Given the description of an element on the screen output the (x, y) to click on. 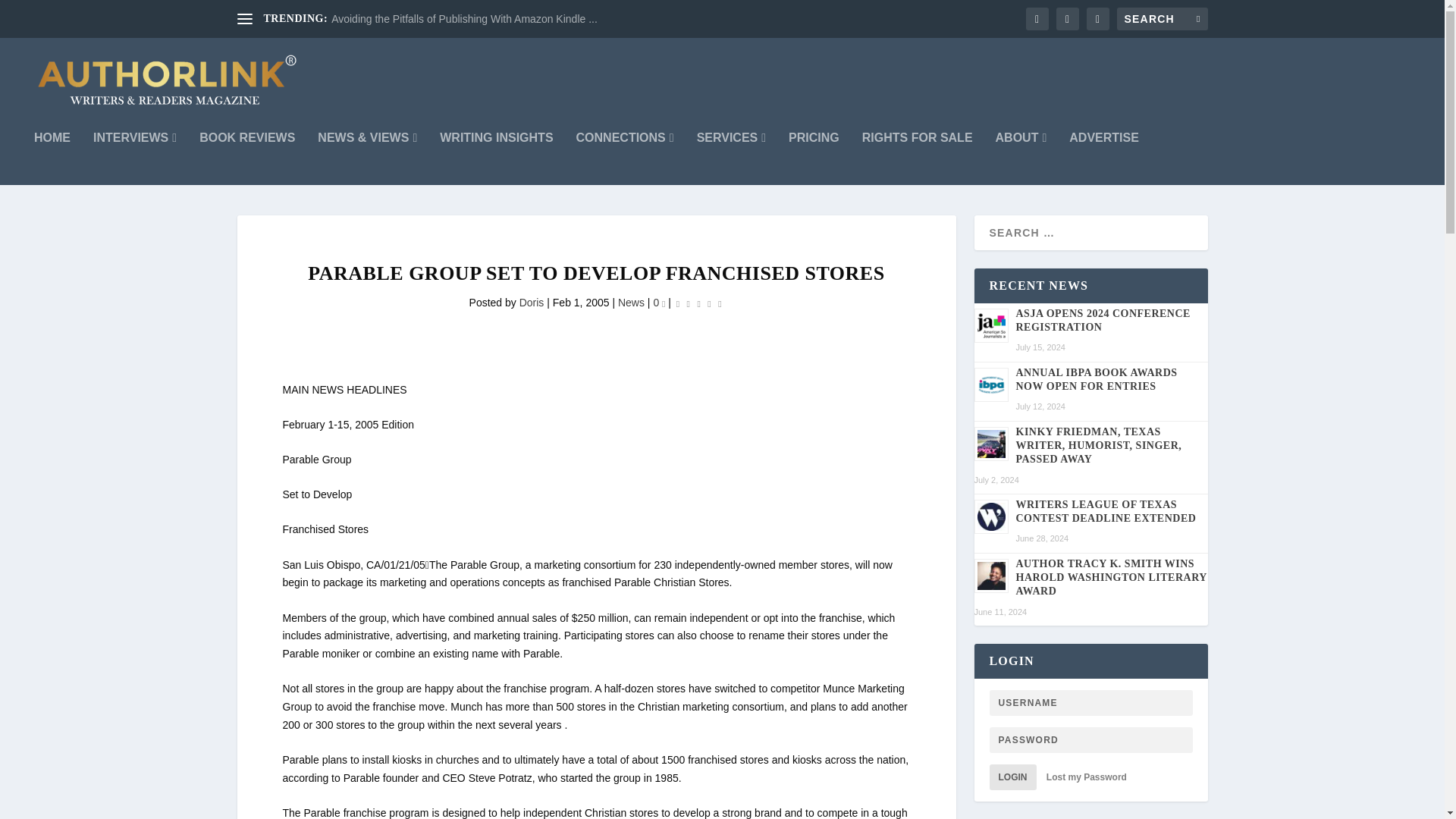
RIGHTS FOR SALE (916, 158)
WRITING INSIGHTS (496, 158)
SERVICES (731, 158)
Avoiding the Pitfalls of Publishing With Amazon Kindle ... (463, 19)
Posts by Doris (531, 302)
Search for: (1161, 18)
BOOK REVIEWS (247, 158)
INTERVIEWS (134, 158)
ABOUT (1020, 158)
PRICING (814, 158)
CONNECTIONS (625, 158)
Rating: 0.00 (698, 303)
